Given the description of an element on the screen output the (x, y) to click on. 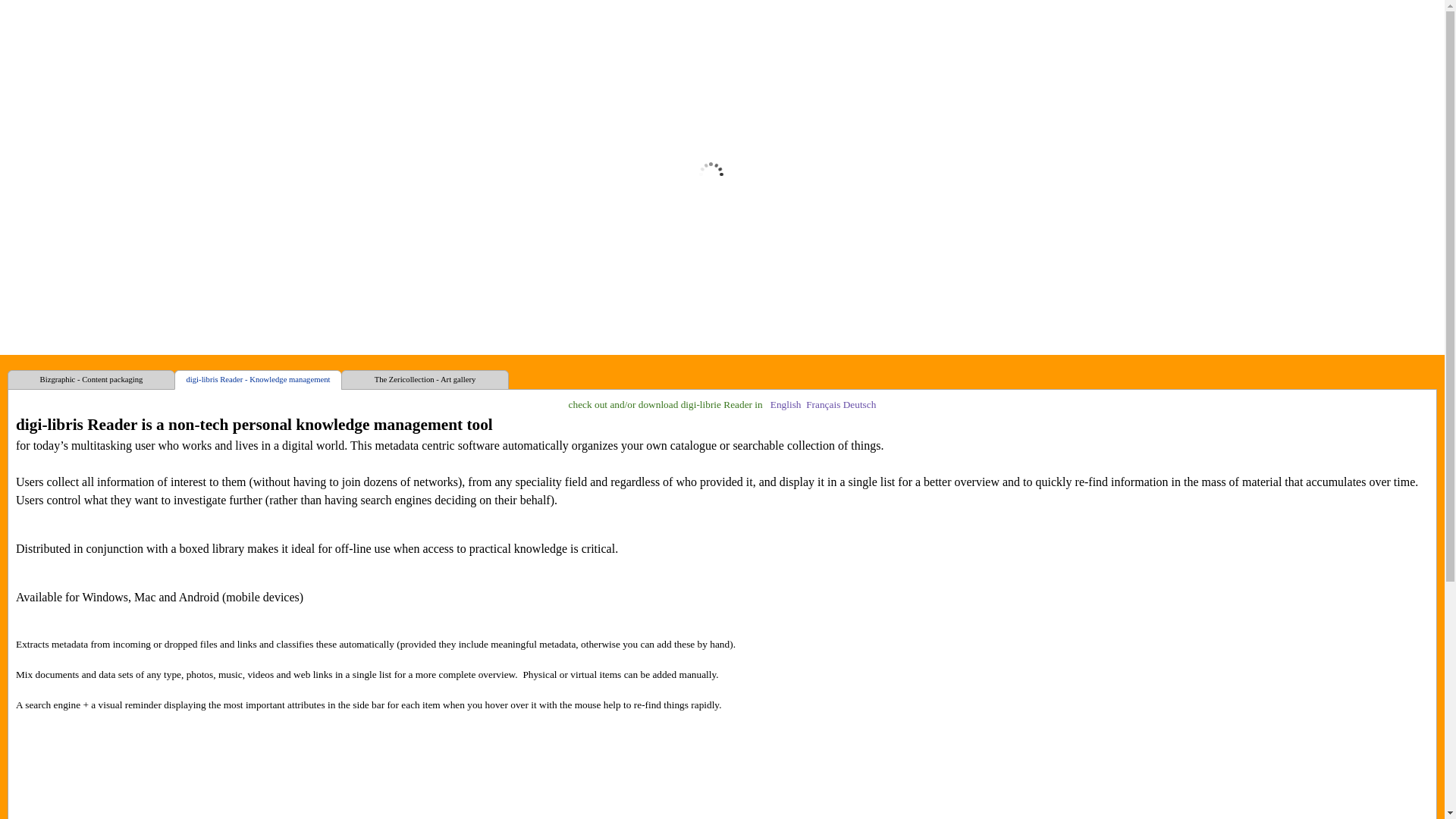
The Zericollection - Art gallery Element type: text (424, 379)
Bizgraphic - Content packaging Element type: text (90, 379)
digi-libris Reader - Knowledge management Element type: text (257, 379)
s Element type: text (838, 404)
Deutsch Element type: text (859, 404)
English Element type: text (719, 404)
English Element type: text (785, 404)
